Given the description of an element on the screen output the (x, y) to click on. 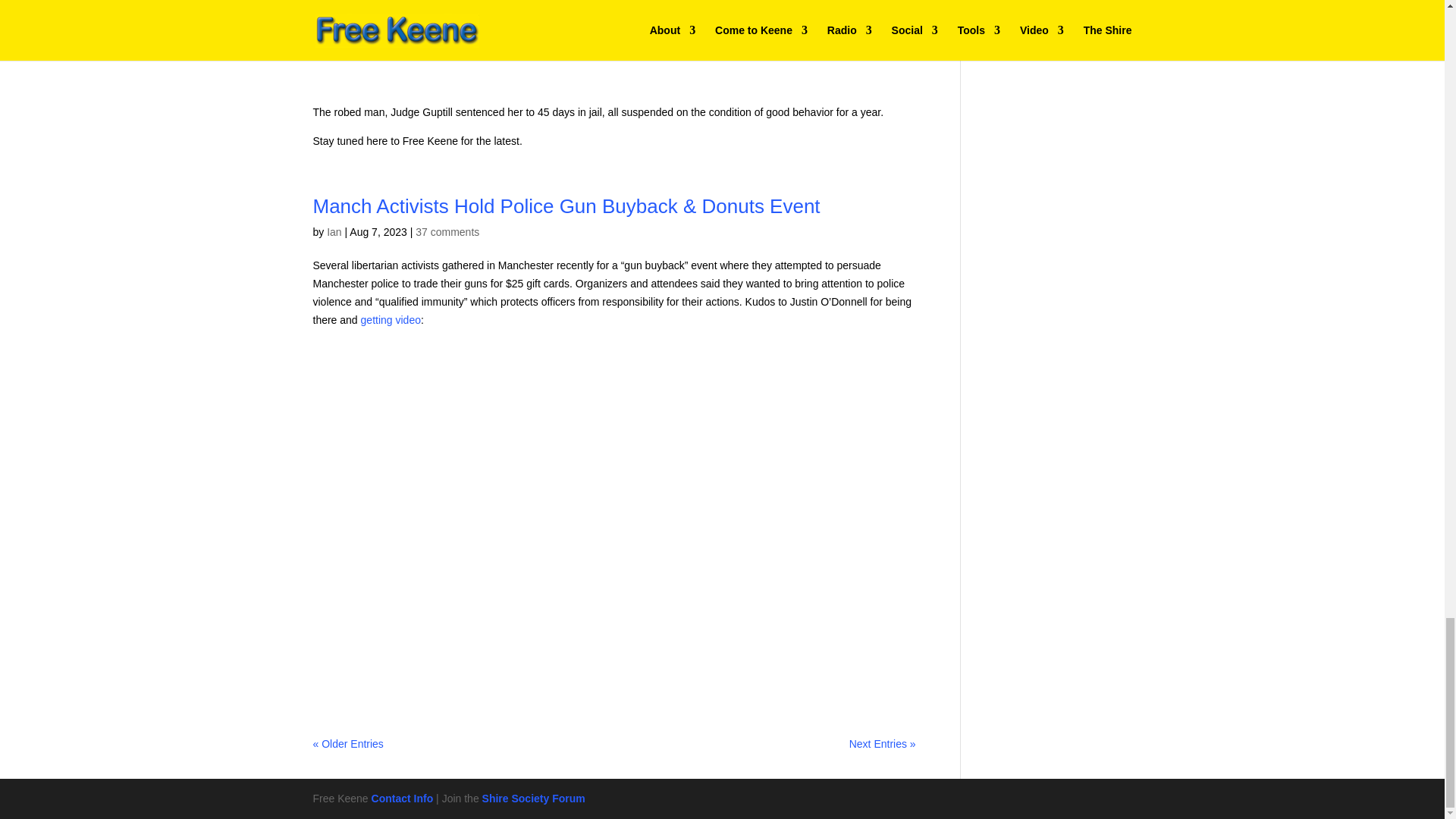
Contact Us (402, 798)
Posts by Ian (333, 232)
